Given the description of an element on the screen output the (x, y) to click on. 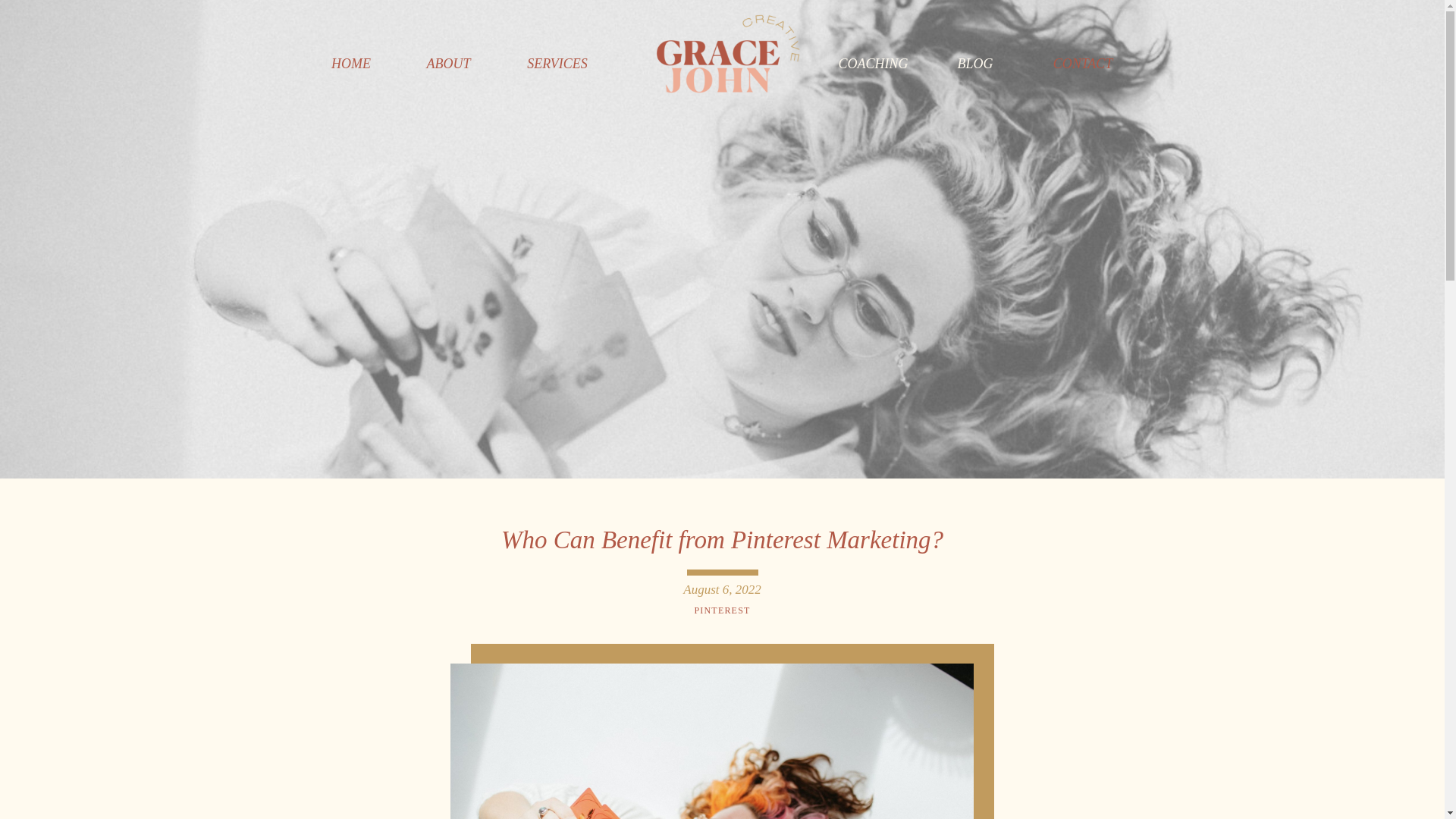
CONTACT (1082, 63)
SERVICES (556, 63)
PINTEREST (721, 610)
COACHING (870, 63)
ABOUT (449, 63)
BLOG (975, 63)
HOME (351, 63)
